Given the description of an element on the screen output the (x, y) to click on. 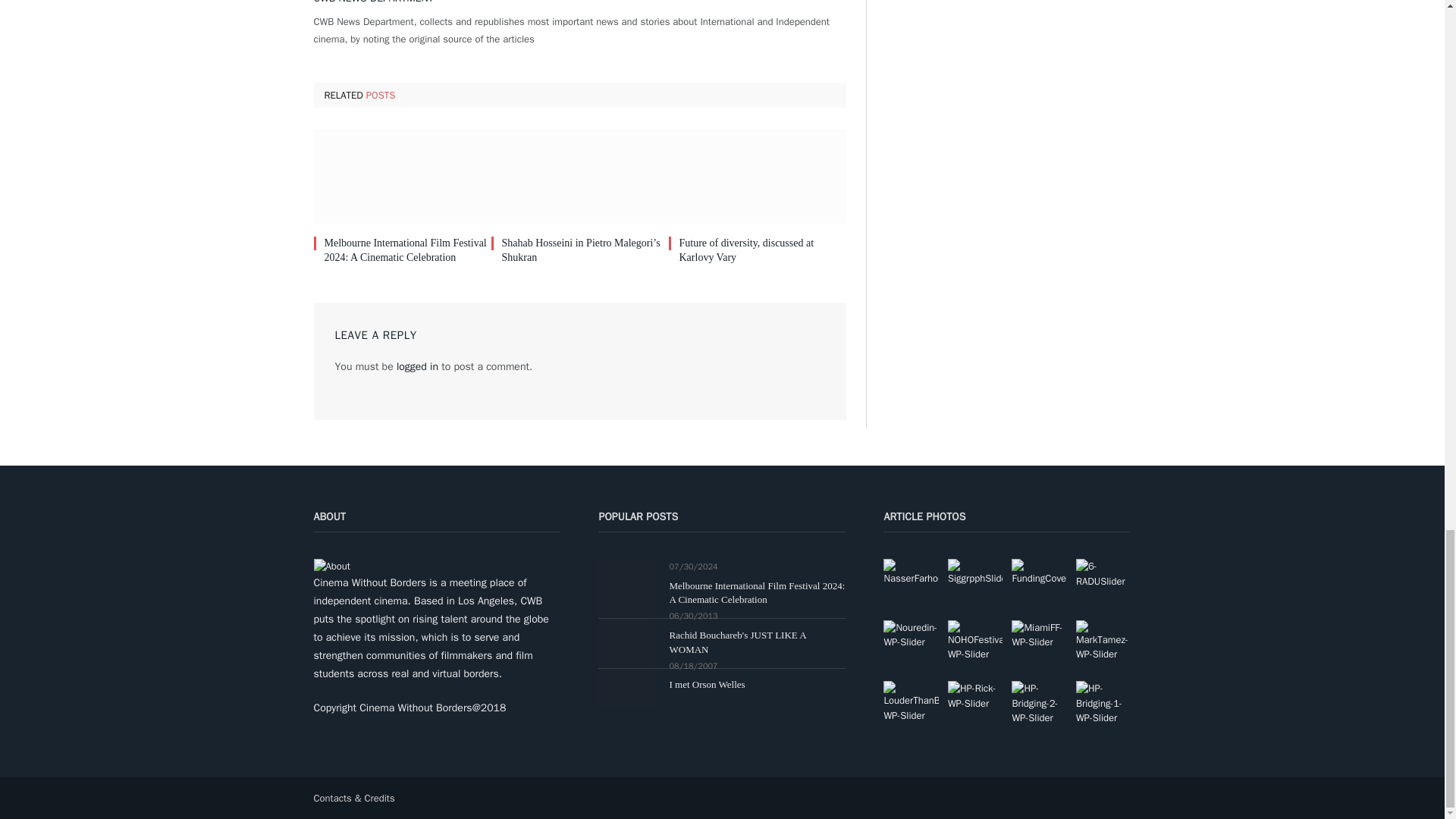
Posts by CWB News Department (373, 2)
